Given the description of an element on the screen output the (x, y) to click on. 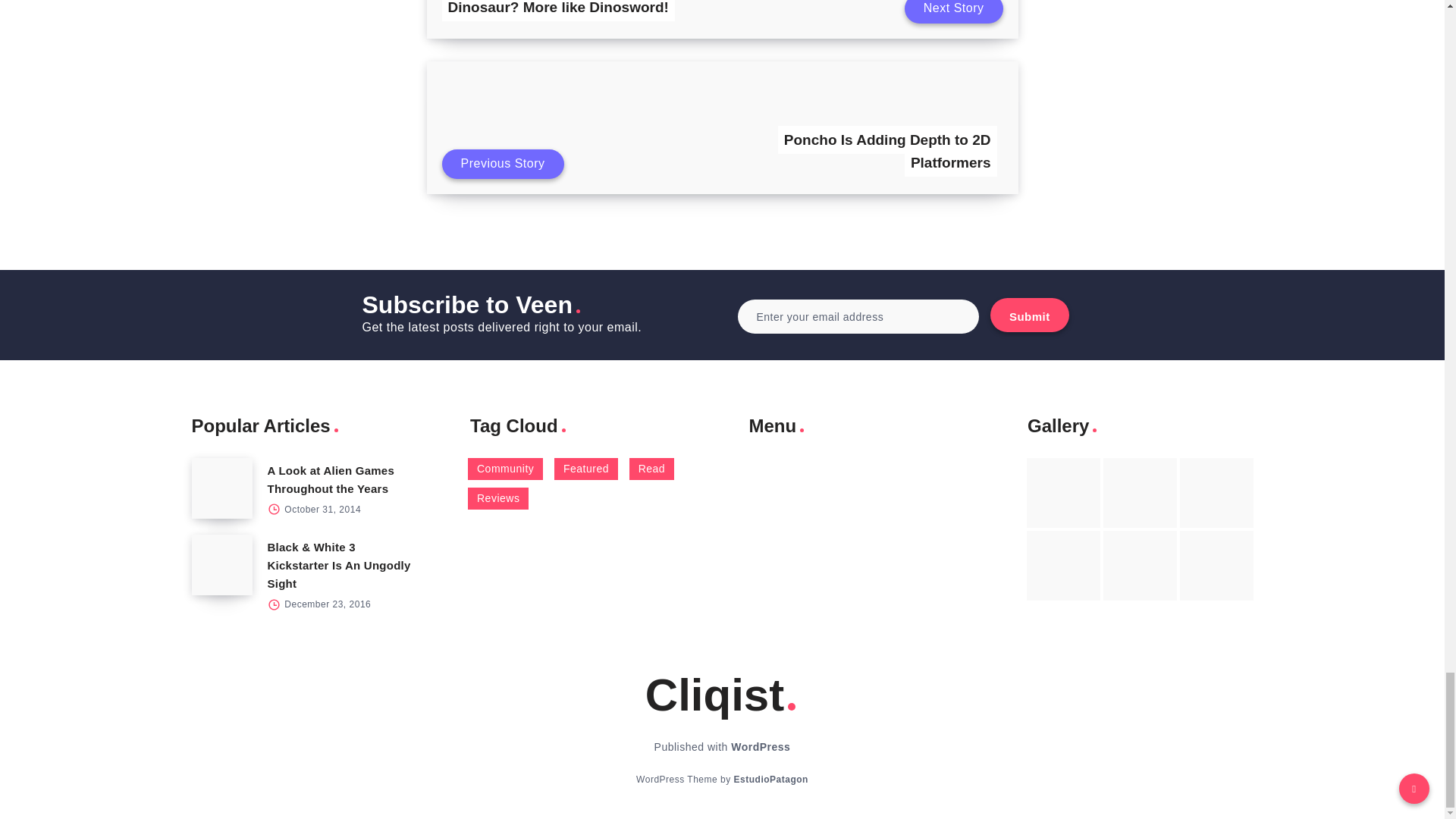
Just a nice paint (1139, 565)
Retro Camera (1139, 492)
Pink paper over blue background (1063, 492)
Old music caption (1216, 492)
Powered with Veen (770, 778)
